Given the description of an element on the screen output the (x, y) to click on. 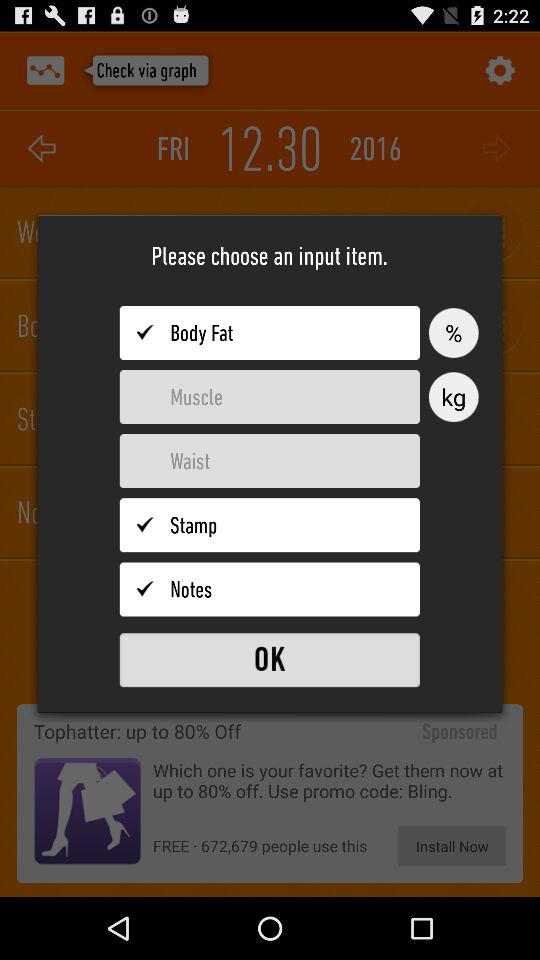
jump to the kg button (453, 397)
